Given the description of an element on the screen output the (x, y) to click on. 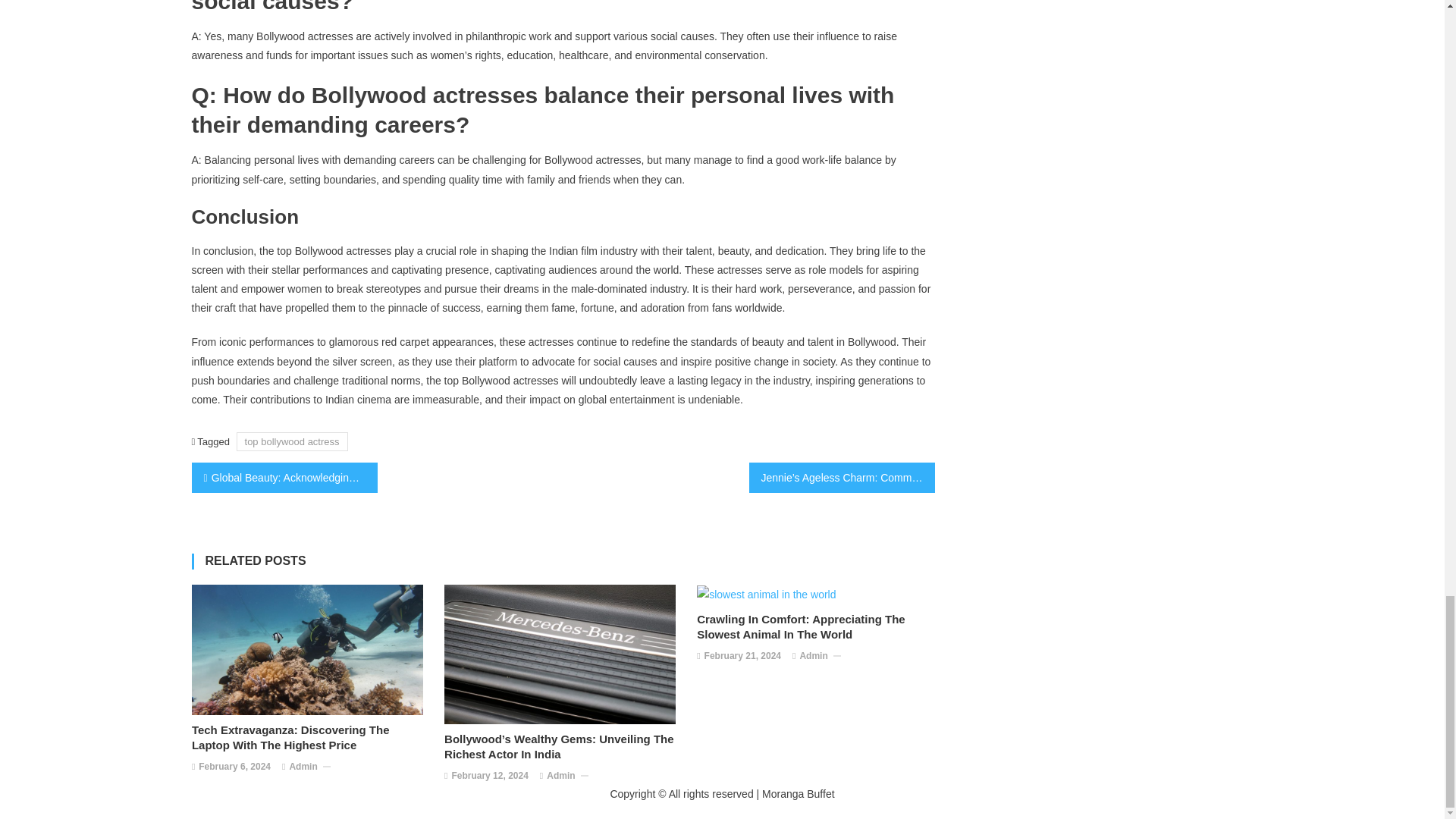
top bollywood actress (291, 441)
February 21, 2024 (742, 656)
Admin (813, 656)
February 6, 2024 (234, 767)
February 12, 2024 (489, 776)
Admin (561, 776)
Admin (302, 767)
